Given the description of an element on the screen output the (x, y) to click on. 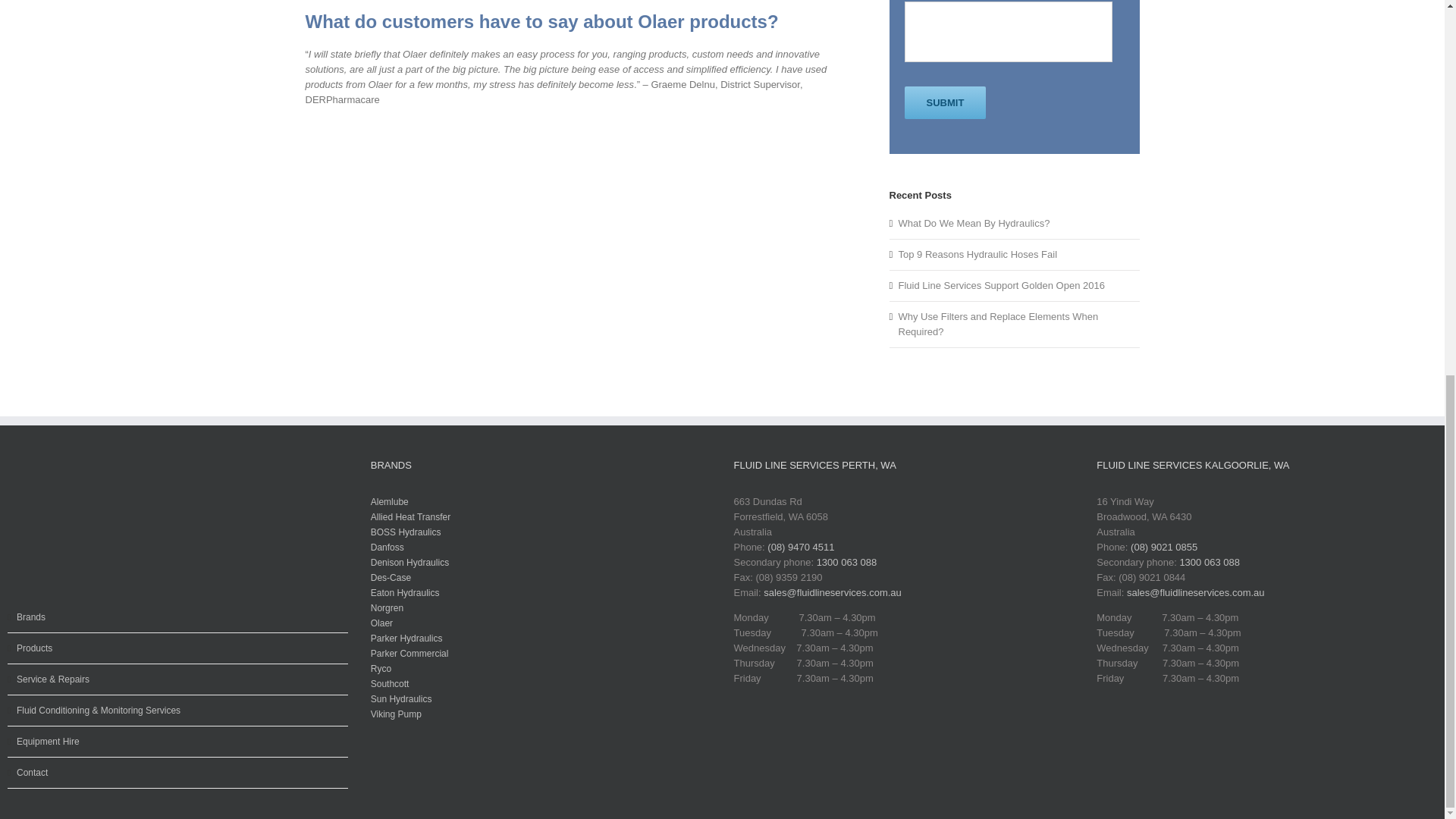
Submit (944, 102)
